Given the description of an element on the screen output the (x, y) to click on. 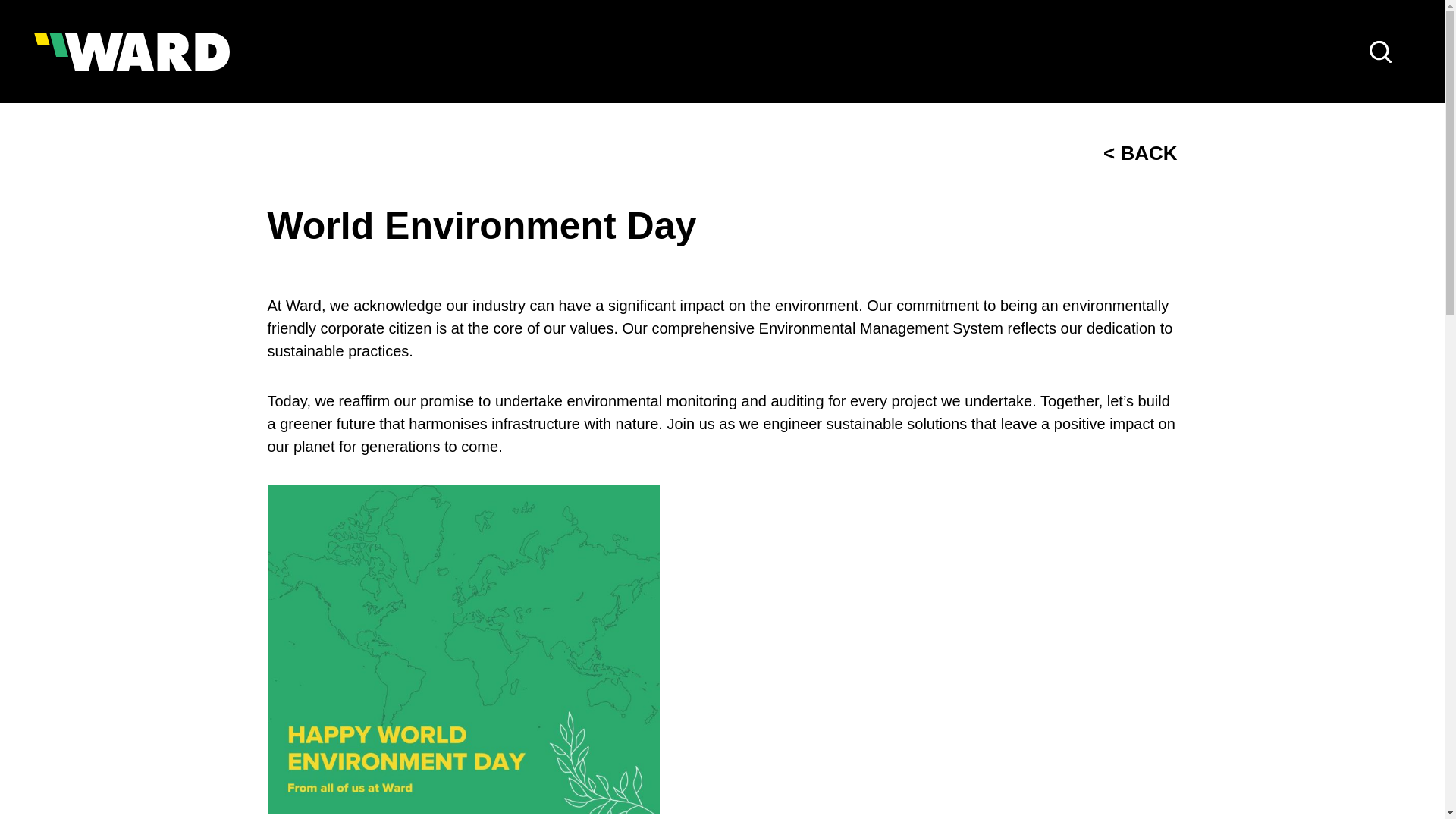
Search (1380, 51)
CAREERS (1101, 51)
Search (1380, 51)
ABOUT (648, 51)
BLOG (1198, 51)
Search (1380, 51)
Ward Group (131, 51)
PROJECTS (986, 51)
PRIORITIES (755, 51)
HOME (559, 51)
